Given the description of an element on the screen output the (x, y) to click on. 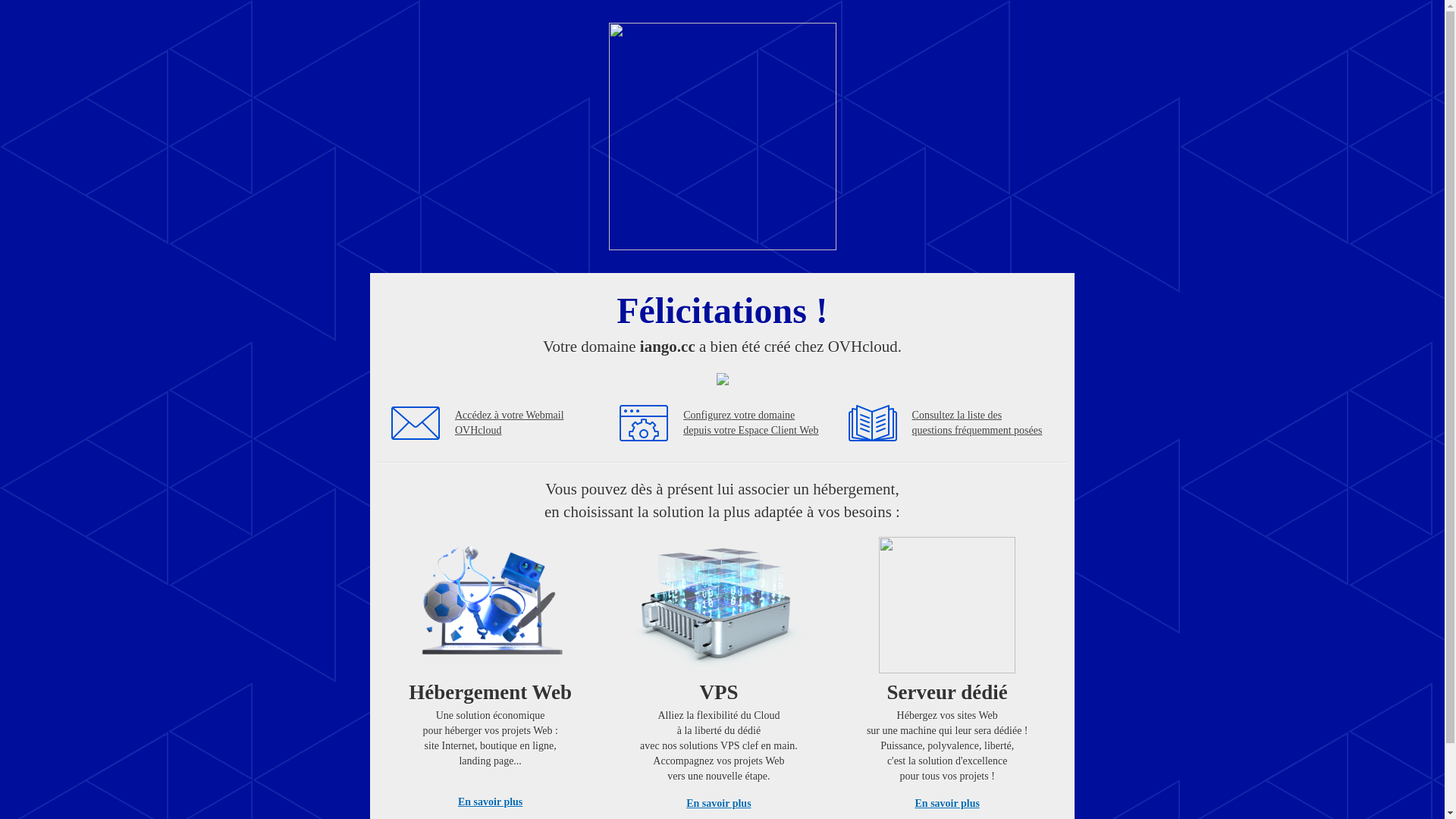
OVHcloud Element type: hover (721, 245)
Configurez votre domaine
depuis votre Espace Client Web Element type: text (750, 422)
En savoir plus Element type: text (947, 803)
En savoir plus Element type: text (718, 803)
En savoir plus Element type: text (490, 801)
VPS Element type: hover (718, 669)
